Given the description of an element on the screen output the (x, y) to click on. 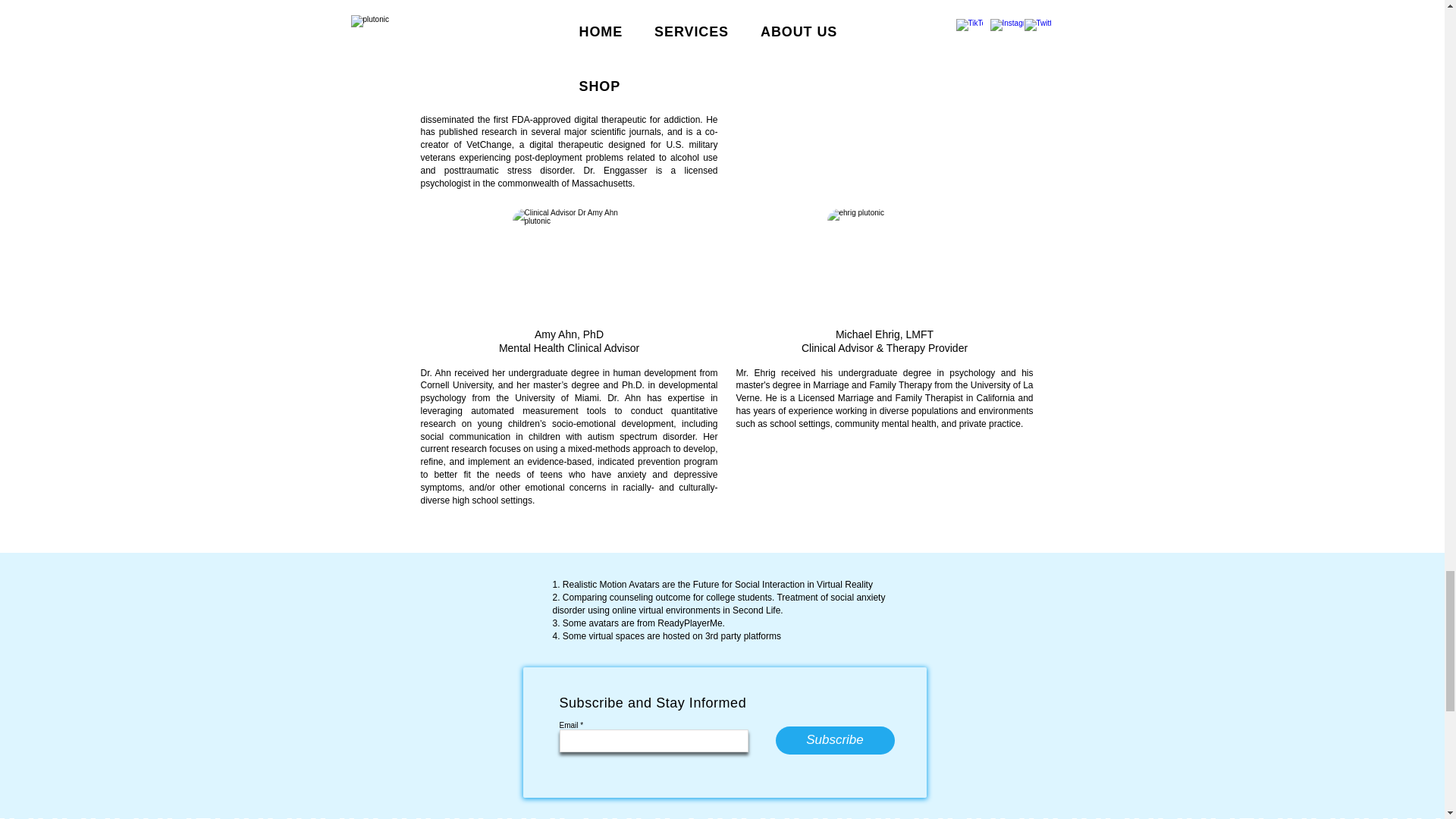
Subscribe (833, 740)
